Given the description of an element on the screen output the (x, y) to click on. 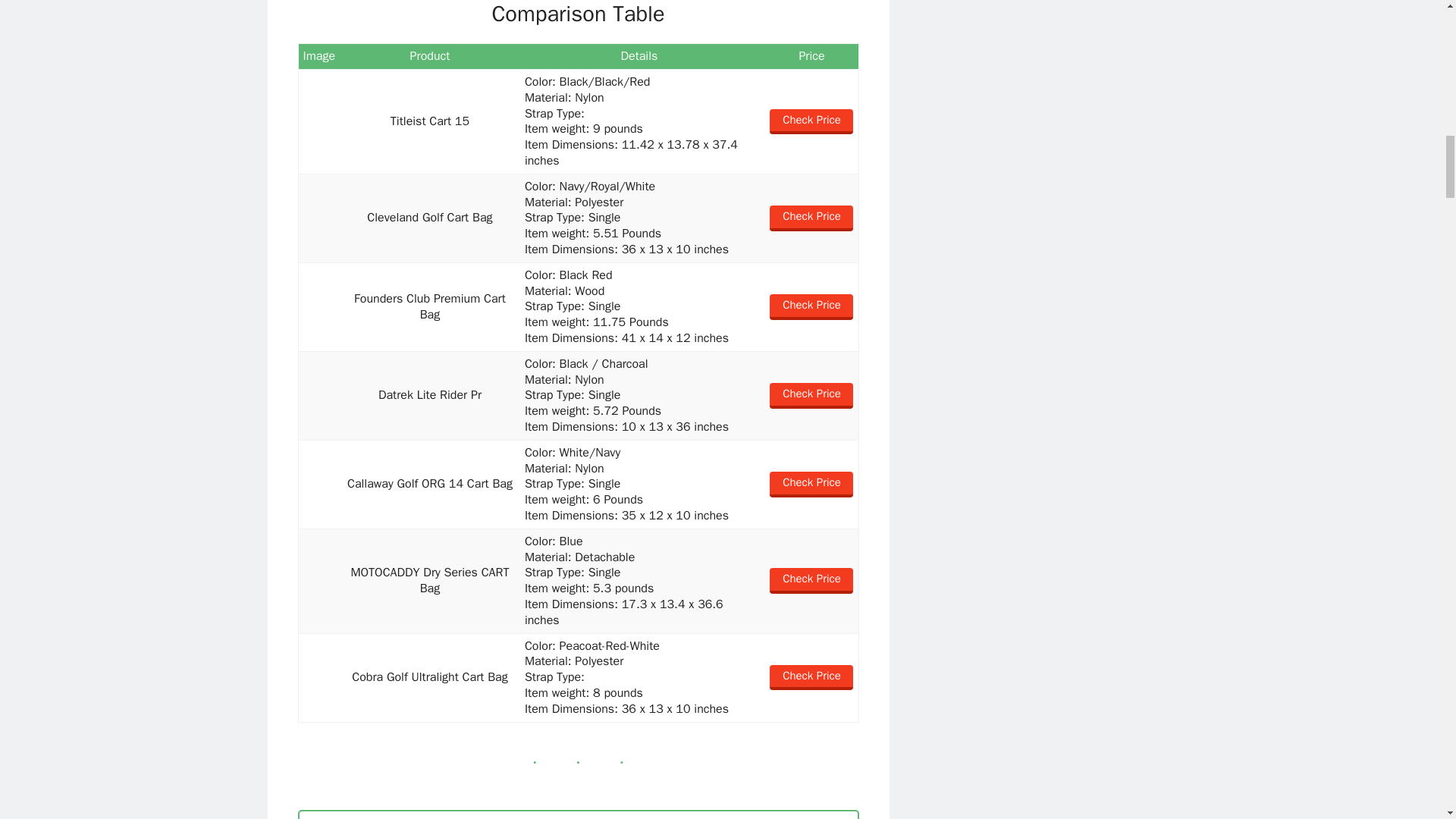
Founders Club Premium (319, 307)
Datrek Lite Rider Pro bag (319, 396)
Callaway Golf ORG 14 Cart Bag (319, 484)
Cleveland Golf Cart Bag (319, 218)
Titleist Cart 15 golf bag (319, 121)
MOTOCADDY Dry Series CART Bag (319, 581)
Cobra Golf Ultralight Cart Bag (319, 676)
